Given the description of an element on the screen output the (x, y) to click on. 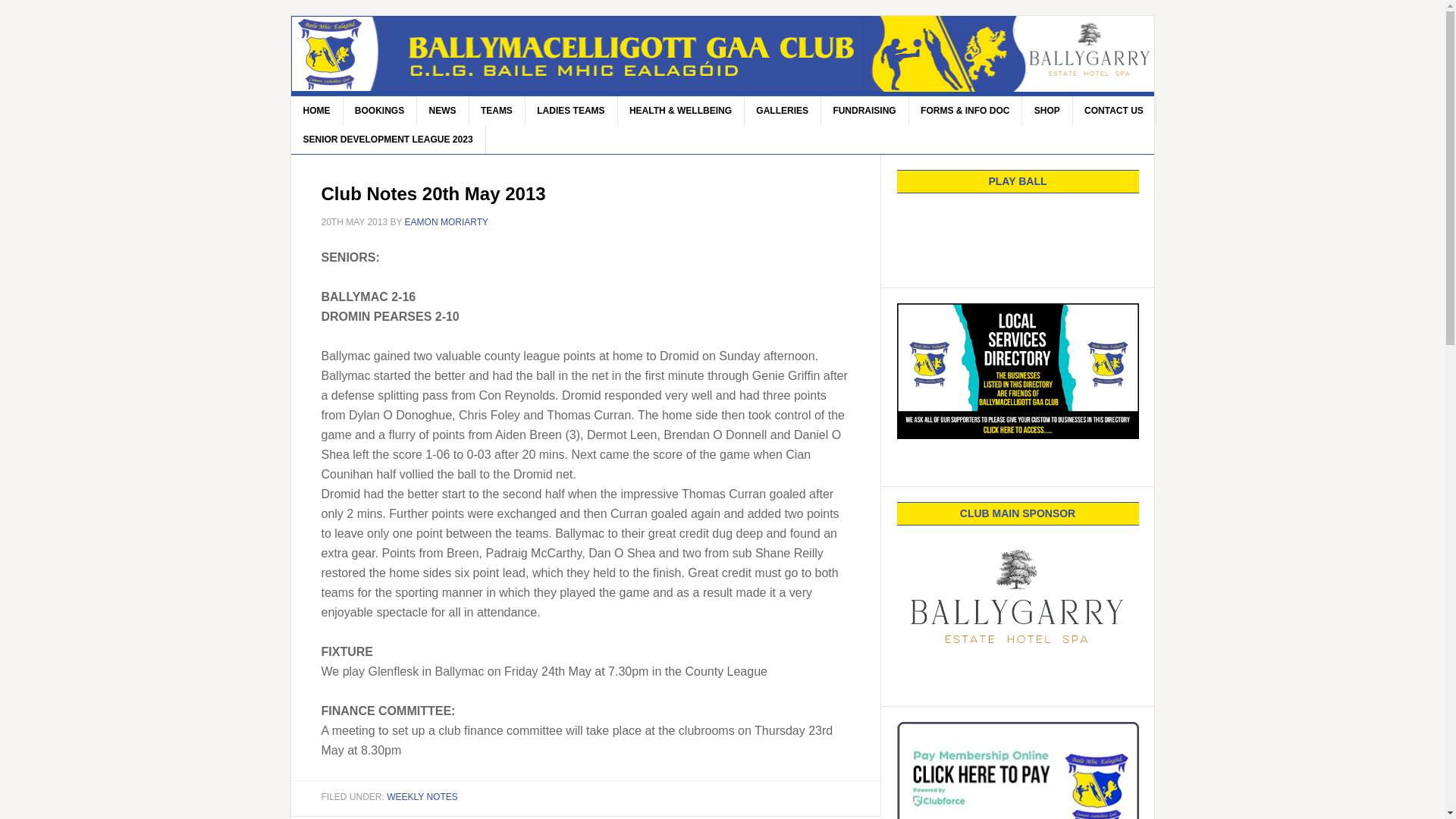
NEWS (442, 110)
TEAMS (496, 110)
HOME (317, 110)
LADIES TEAMS (570, 110)
BOOKINGS (379, 110)
